Given the description of an element on the screen output the (x, y) to click on. 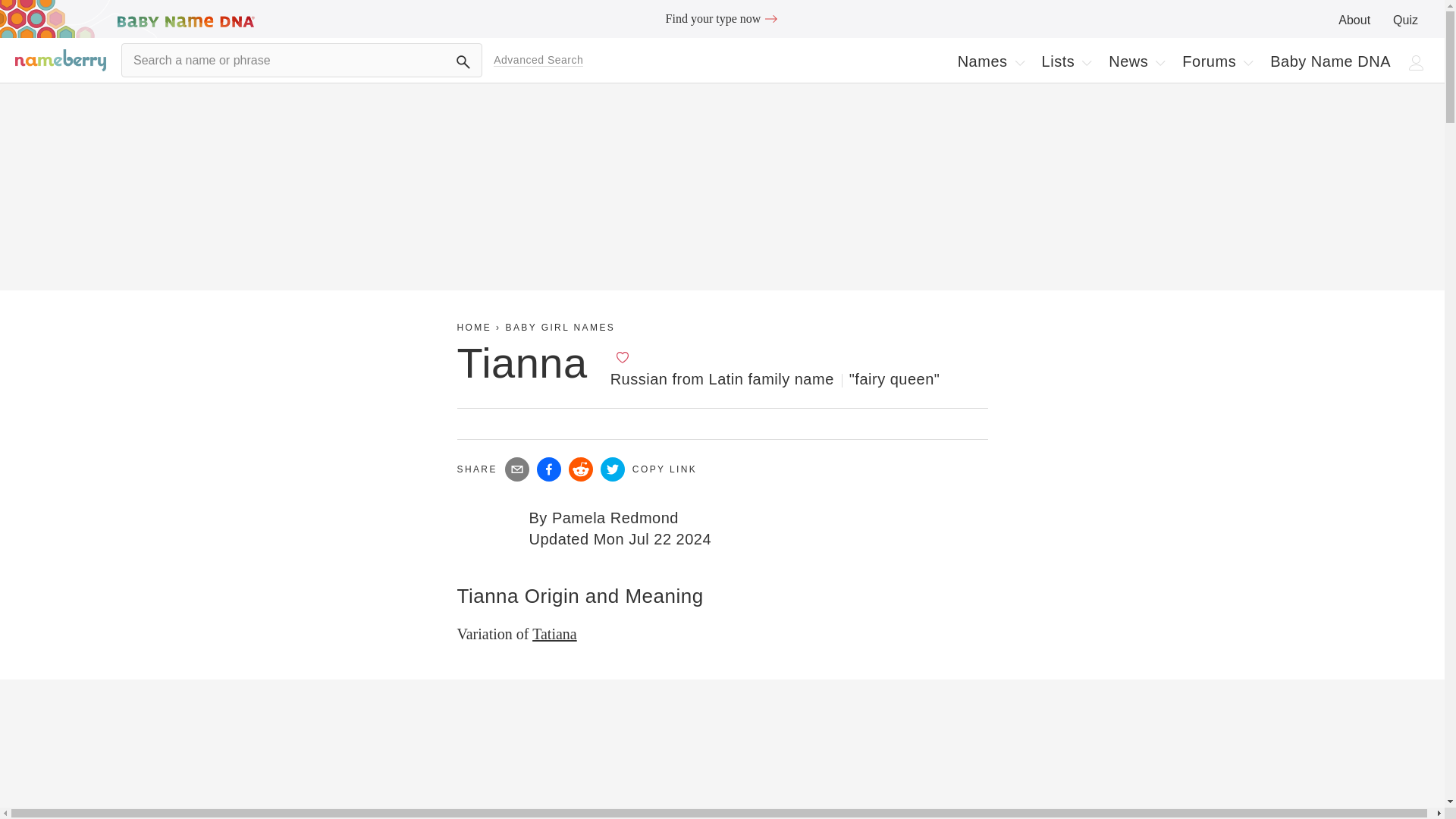
Arrow Right (770, 18)
HEART (622, 356)
BABY GIRL NAMES (560, 327)
Chevron - Down (1136, 61)
Baby Name DNA (1019, 62)
Tatiana (1329, 61)
Search (554, 633)
Chevron - Down (990, 61)
HEART (1066, 61)
Chevron - Down (462, 61)
